Given the description of an element on the screen output the (x, y) to click on. 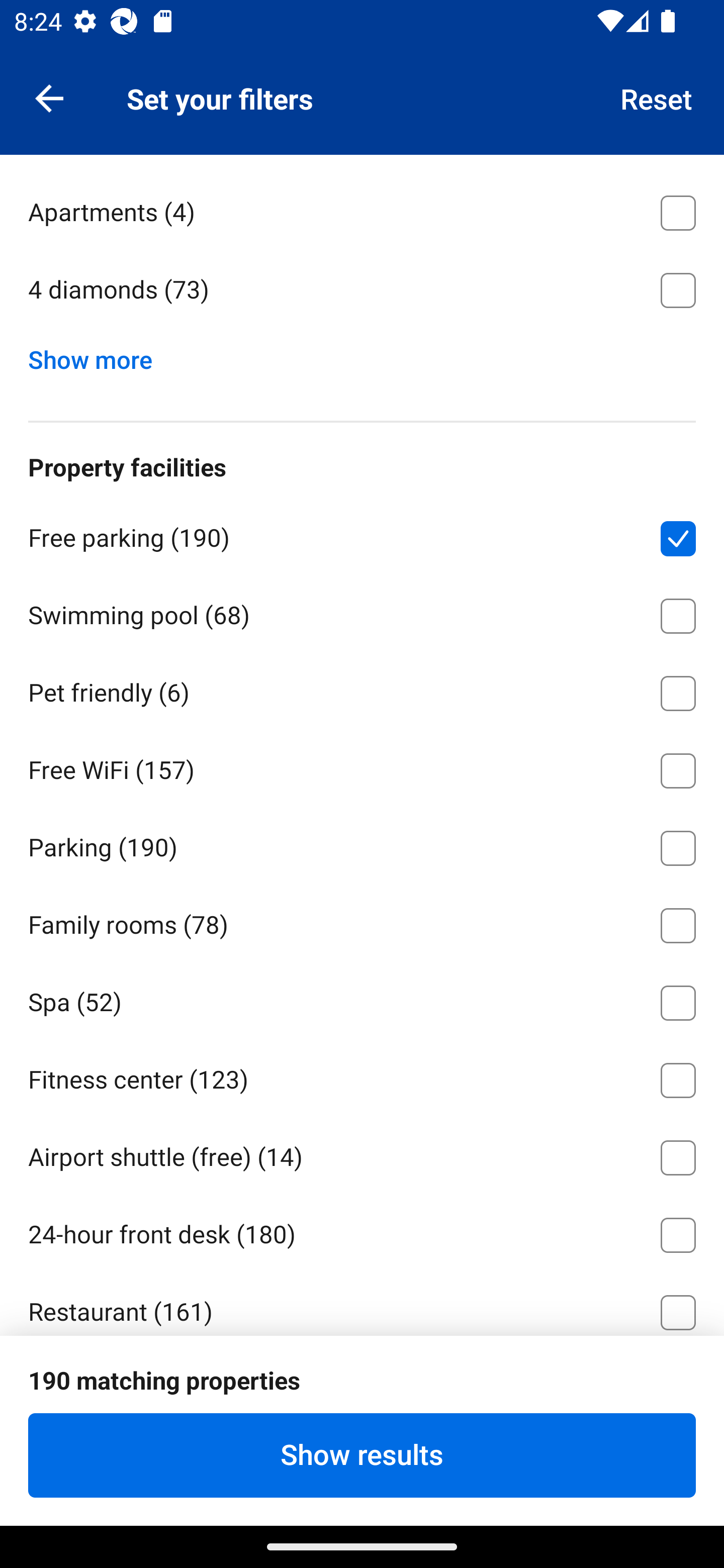
Navigate up (49, 97)
Reset (656, 97)
Apartments ⁦(4) (361, 208)
4 diamonds ⁦(73) (361, 289)
Show more (97, 355)
Free parking ⁦(190) (361, 535)
Swimming pool ⁦(68) (361, 611)
Pet friendly ⁦(6) (361, 689)
Free WiFi ⁦(157) (361, 767)
Parking ⁦(190) (361, 843)
Family rooms ⁦(78) (361, 921)
Spa ⁦(52) (361, 999)
Fitness center ⁦(123) (361, 1077)
Airport shuttle (free) ⁦(14) (361, 1154)
24-hour front desk ⁦(180) (361, 1231)
Restaurant ⁦(161) (361, 1302)
Airport shuttle ⁦(33) (361, 1386)
Show results (361, 1454)
